Given the description of an element on the screen output the (x, y) to click on. 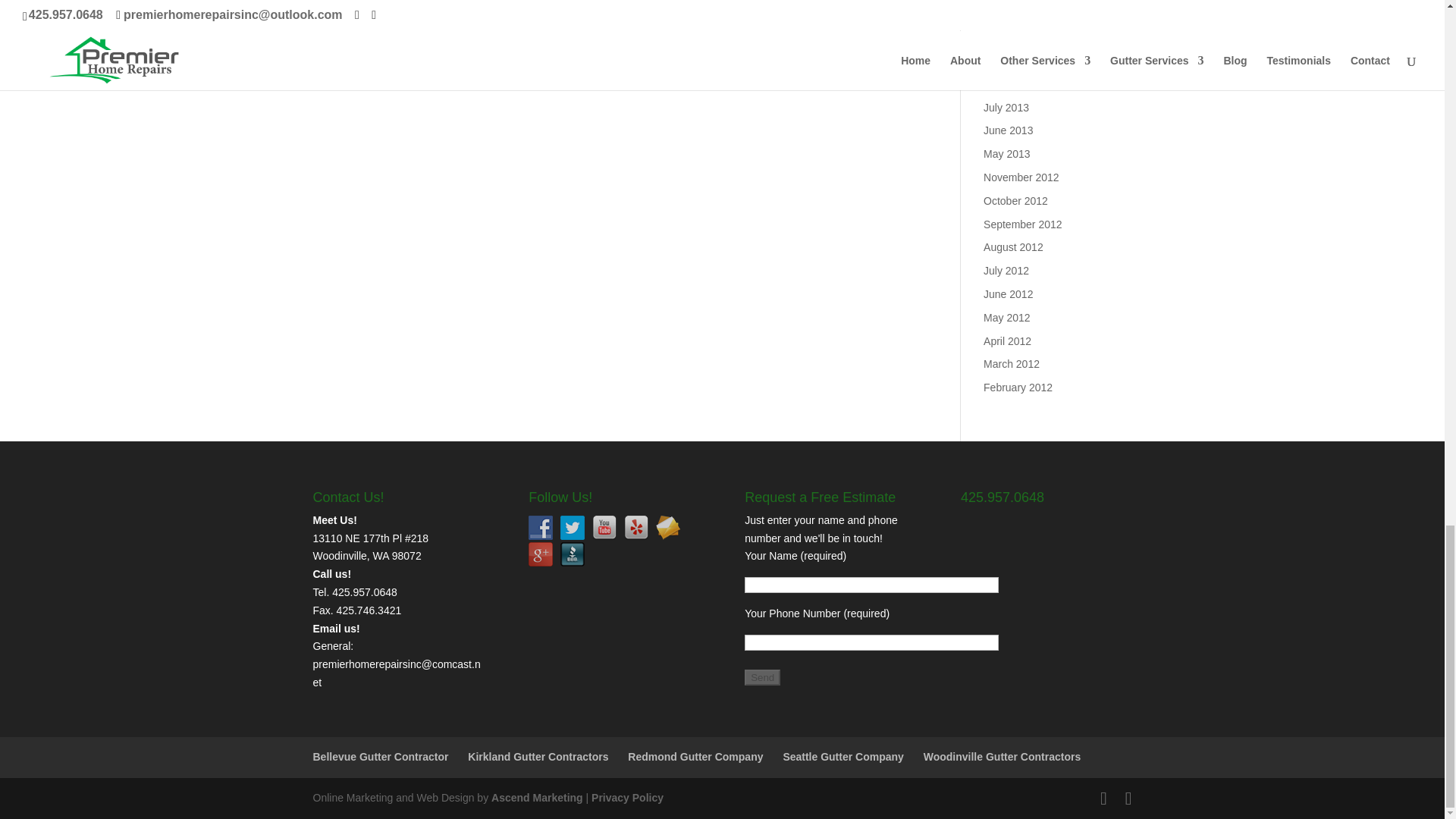
Follow Us on Better Business Bureau (572, 554)
Follow Us on YouTube (603, 527)
Follow Us on Facebook (540, 527)
Send (762, 677)
Follow Us on E-mail (667, 527)
Follow Us on Twitter (572, 527)
Follow Us on Yelp (635, 527)
